Given the description of an element on the screen output the (x, y) to click on. 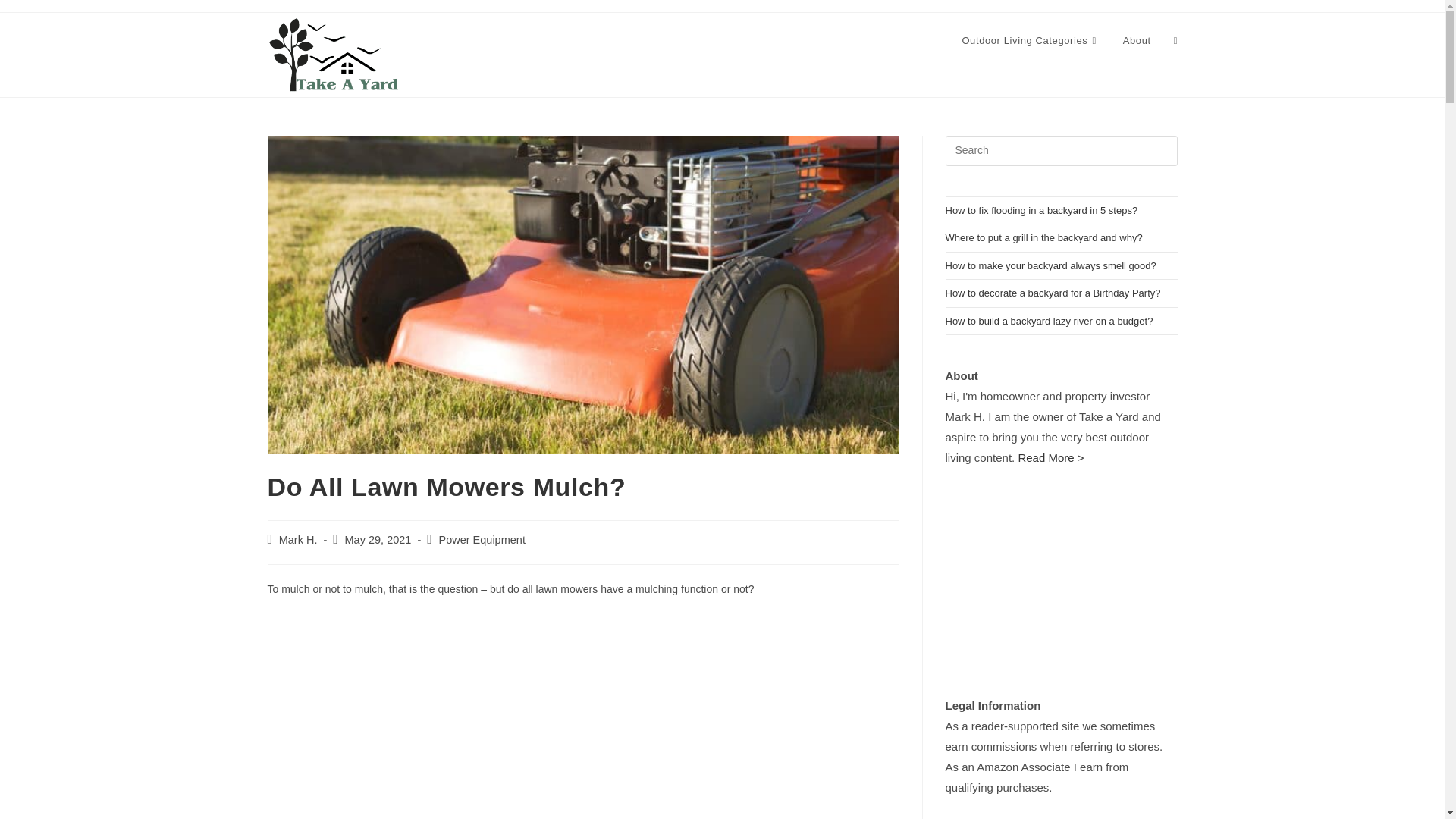
Power Equipment (481, 539)
About (1136, 40)
Posts by Mark H. (298, 539)
Outdoor Living Categories (1030, 40)
Mark H. (298, 539)
